Given the description of an element on the screen output the (x, y) to click on. 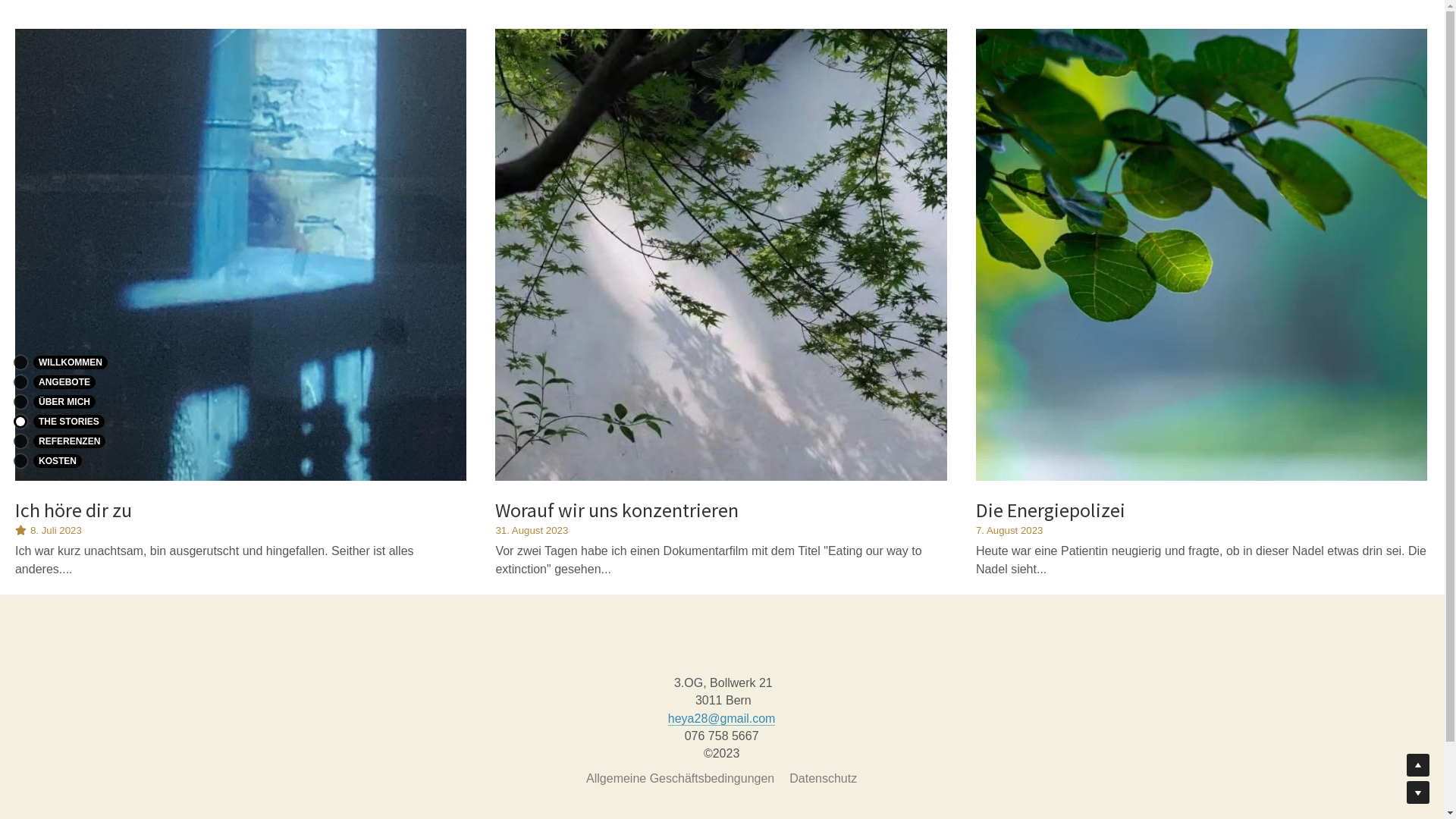
Die Energiepolizei Element type: text (1050, 508)
WILLKOMMEN Element type: text (82, 361)
ANGEBOTE Element type: text (82, 381)
KOSTEN Element type: text (82, 460)
REFERENZEN Element type: text (82, 440)
heya28@gmail.com Element type: text (721, 718)
Worauf wir uns konzentrieren Element type: text (616, 508)
THE STORIES Element type: text (82, 420)
